Given the description of an element on the screen output the (x, y) to click on. 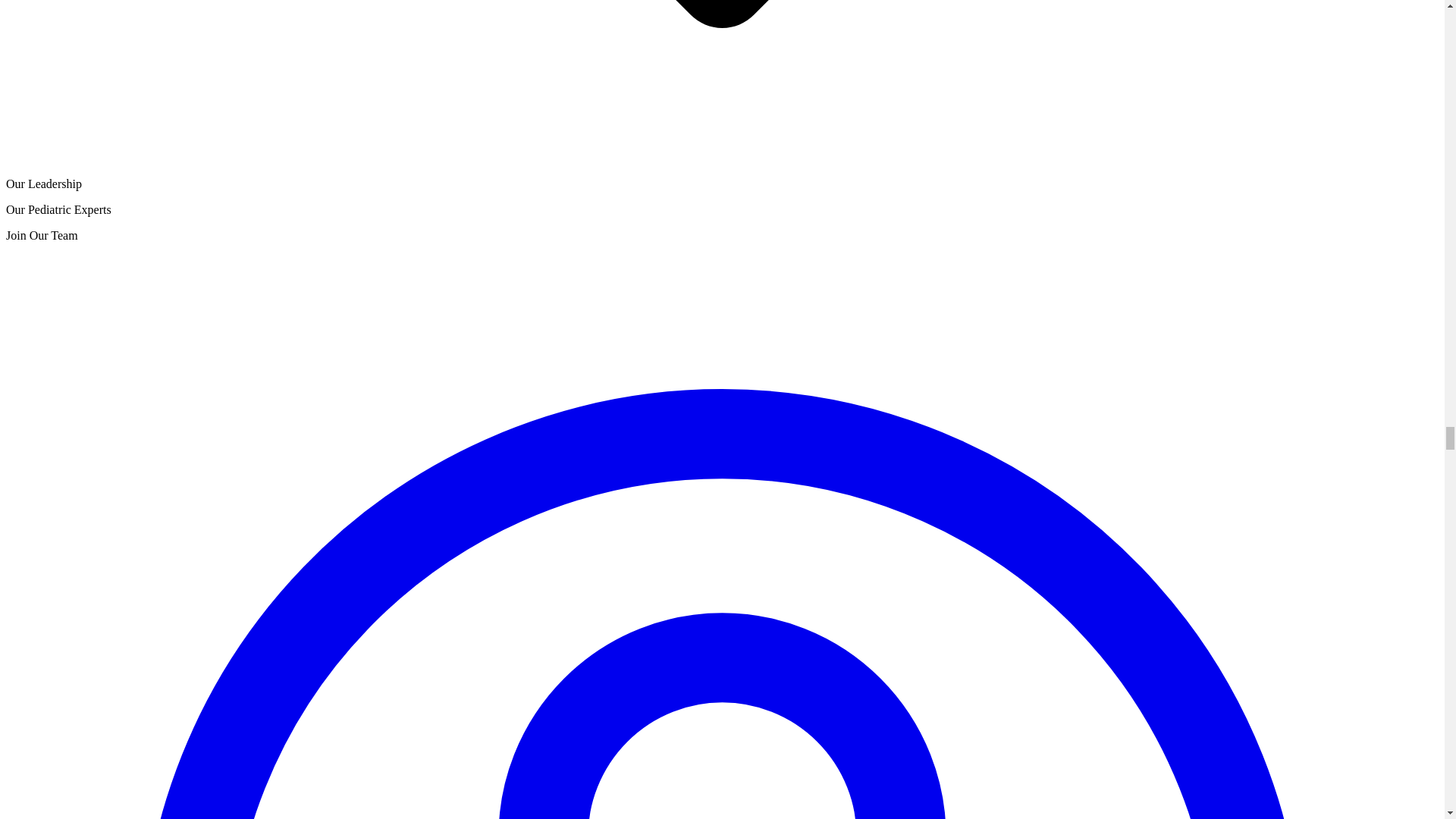
Our Pediatric Experts (58, 209)
Our Leadership (43, 183)
Join Our Team (41, 235)
